Given the description of an element on the screen output the (x, y) to click on. 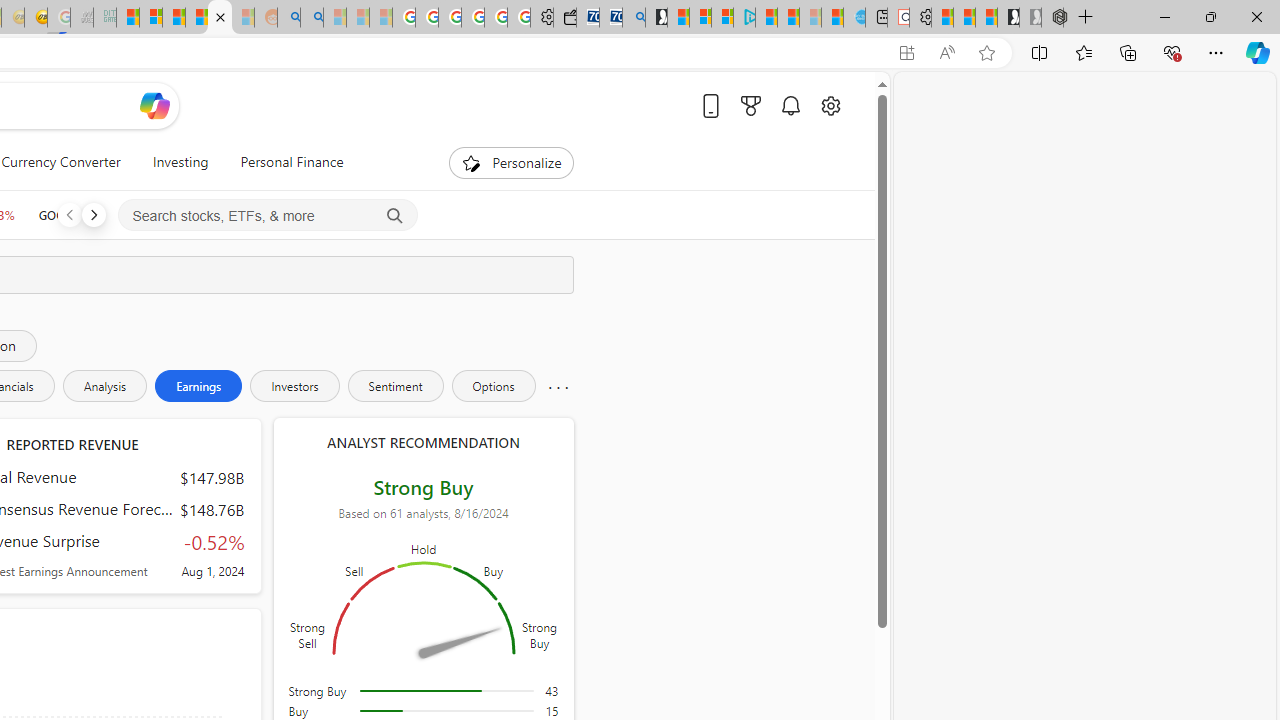
Microsoft rewards (749, 105)
Personal Finance (284, 162)
App available. Install Start Money (906, 53)
DITOGAMES AG Imprint - Sleeping (104, 17)
Play Free Online Games | Games from Microsoft Start (1008, 17)
Previous (69, 214)
